Given the description of an element on the screen output the (x, y) to click on. 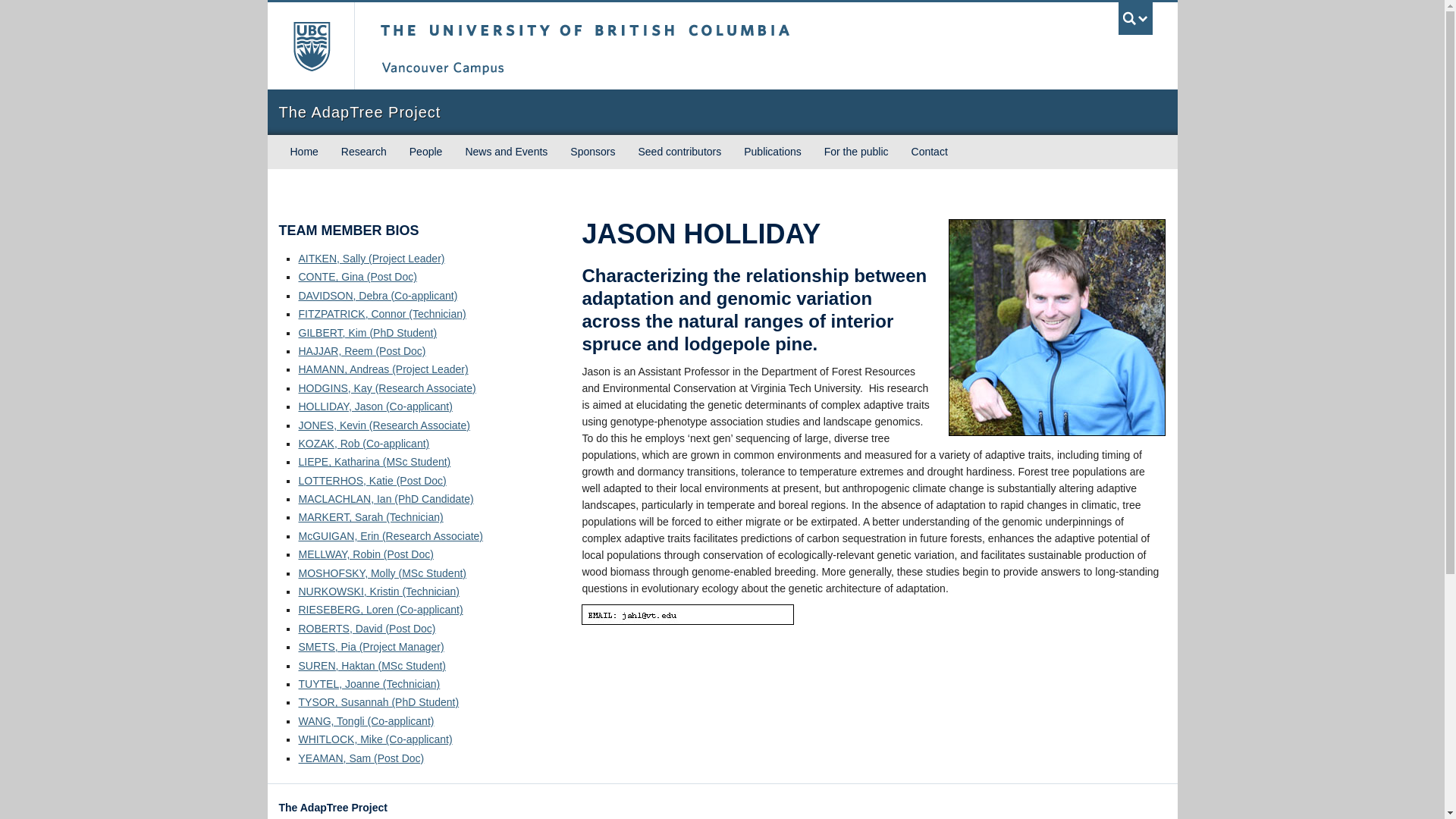
The University of British Columbia (635, 45)
AITKEN, Sally (371, 258)
Sponsors (592, 151)
Seed contributors (679, 151)
Contact (929, 151)
The University of British Columbia (309, 45)
Research (363, 151)
The AdapTree Project (722, 112)
SS-Holliday-284 (1057, 327)
People (425, 151)
